Given the description of an element on the screen output the (x, y) to click on. 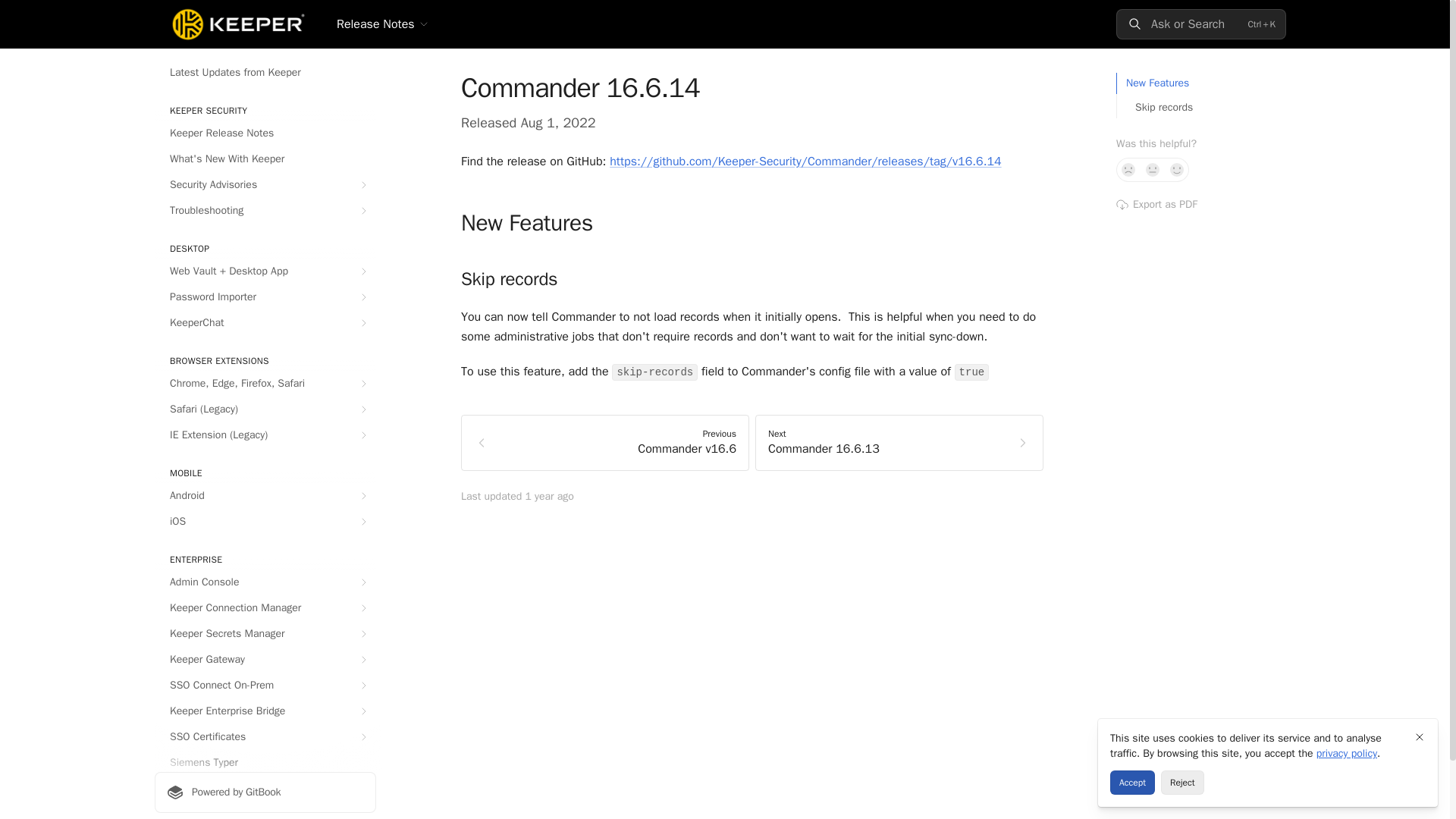
No (1128, 169)
Latest Updates from Keeper (264, 72)
Close (1419, 737)
Security Advisories (264, 184)
Yes, it was! (1176, 169)
Keeper Release Notes (264, 133)
Troubleshooting (264, 210)
What's New With Keeper (264, 159)
Not sure (1152, 169)
